Given the description of an element on the screen output the (x, y) to click on. 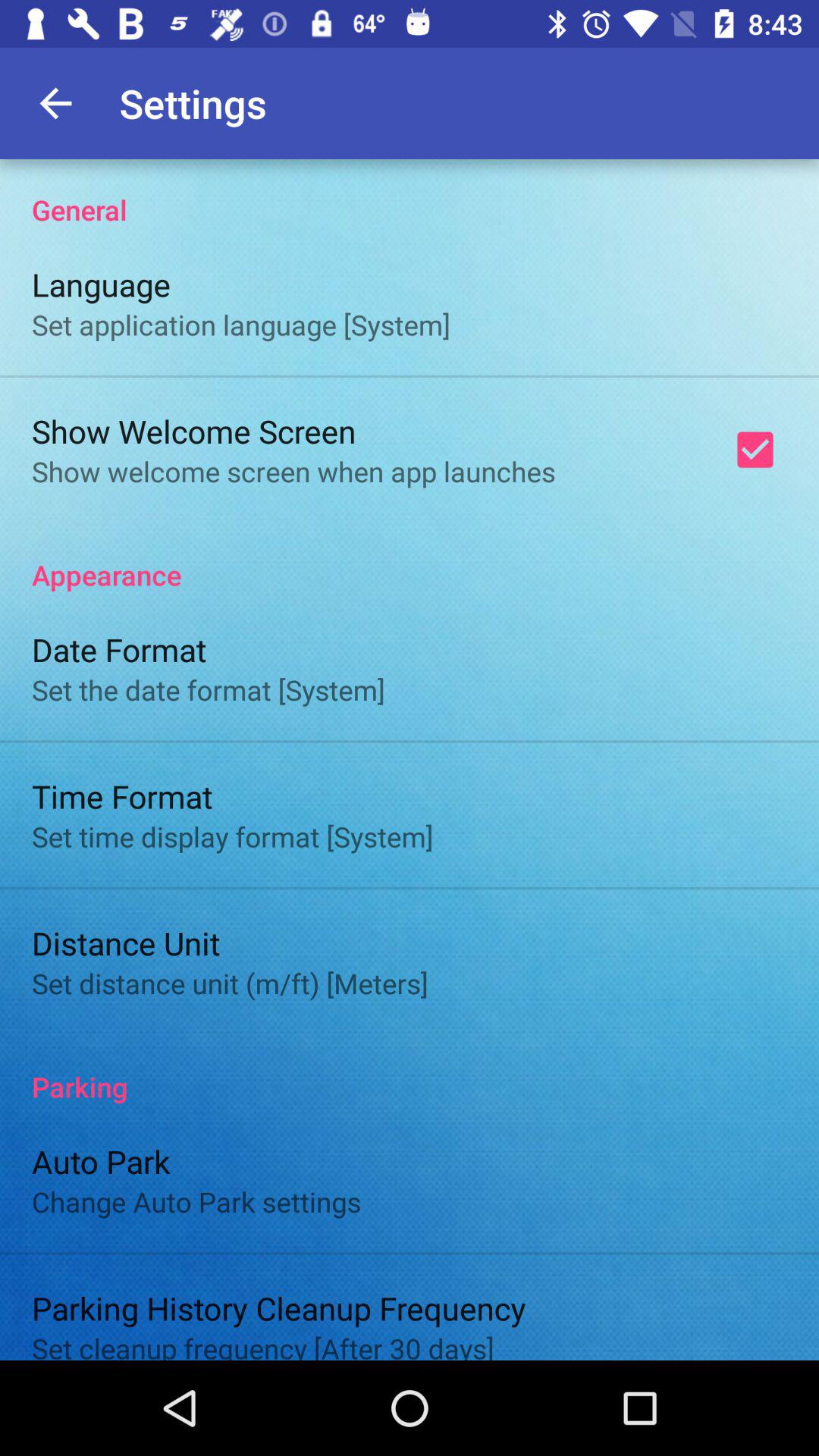
scroll to set the date icon (208, 689)
